Given the description of an element on the screen output the (x, y) to click on. 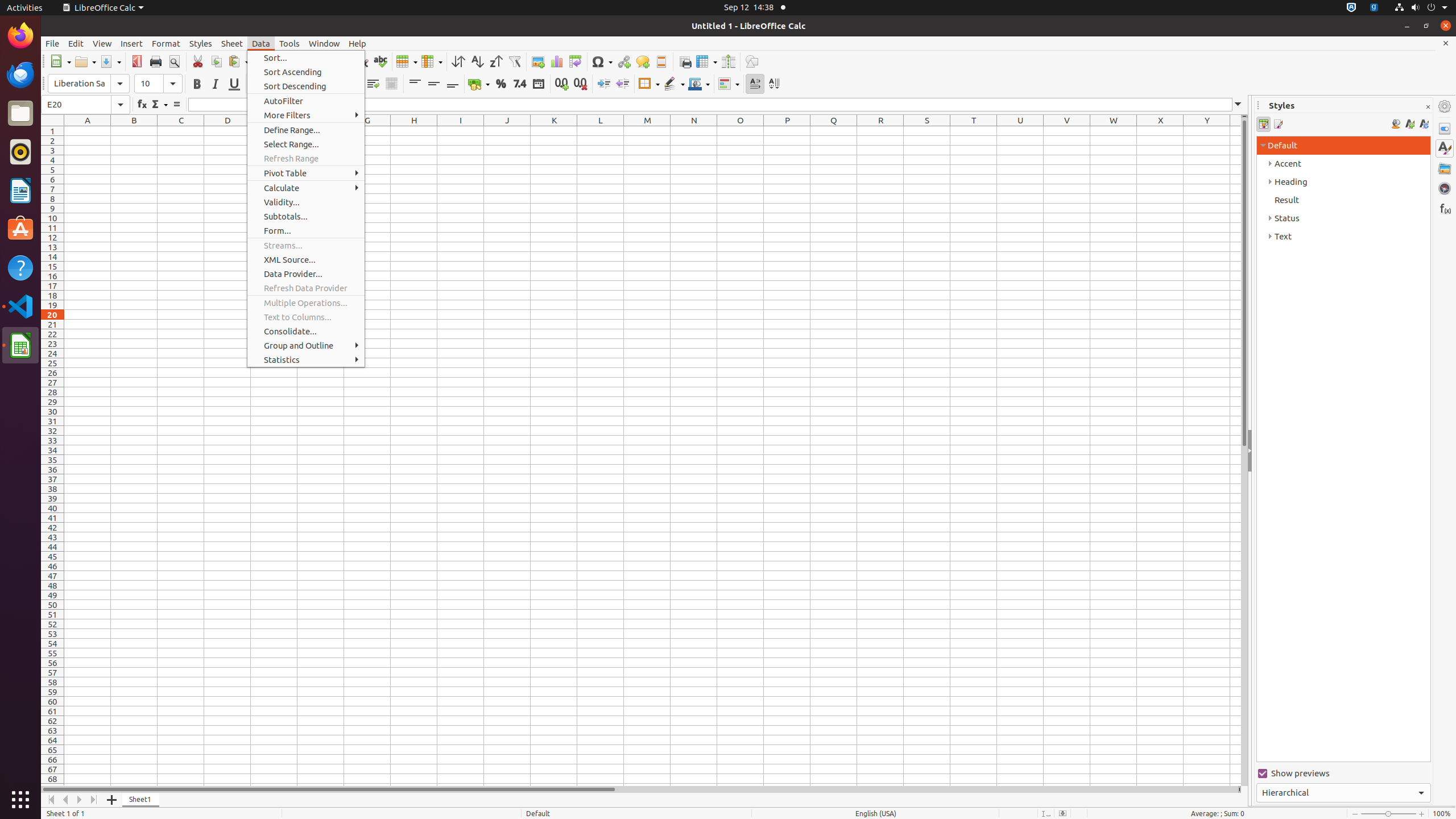
Refresh Range Element type: menu-item (305, 158)
Currency Element type: push-button (478, 83)
Number Element type: push-button (519, 83)
O1 Element type: table-cell (740, 130)
Gallery Element type: radio-button (1444, 168)
